Given the description of an element on the screen output the (x, y) to click on. 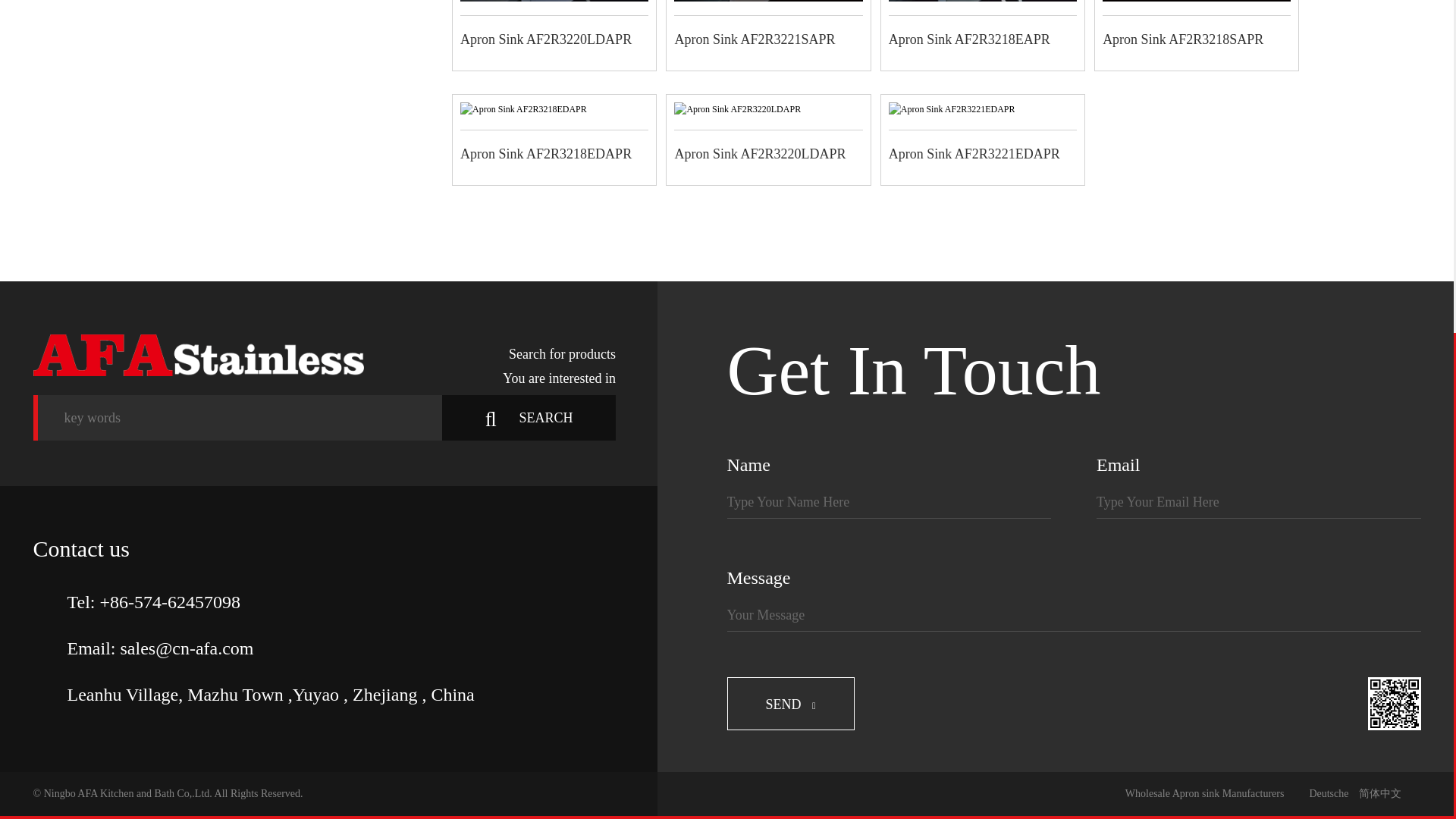
Apron Sink AF2R3220LDAPR (737, 109)
Ningbo AFA Kitchen and Bath Co,.Ltd. (198, 354)
Apron Sink AF2R3218EDAPR (523, 109)
Apron Sink AF2R3221EDAPR (951, 109)
